Given the description of an element on the screen output the (x, y) to click on. 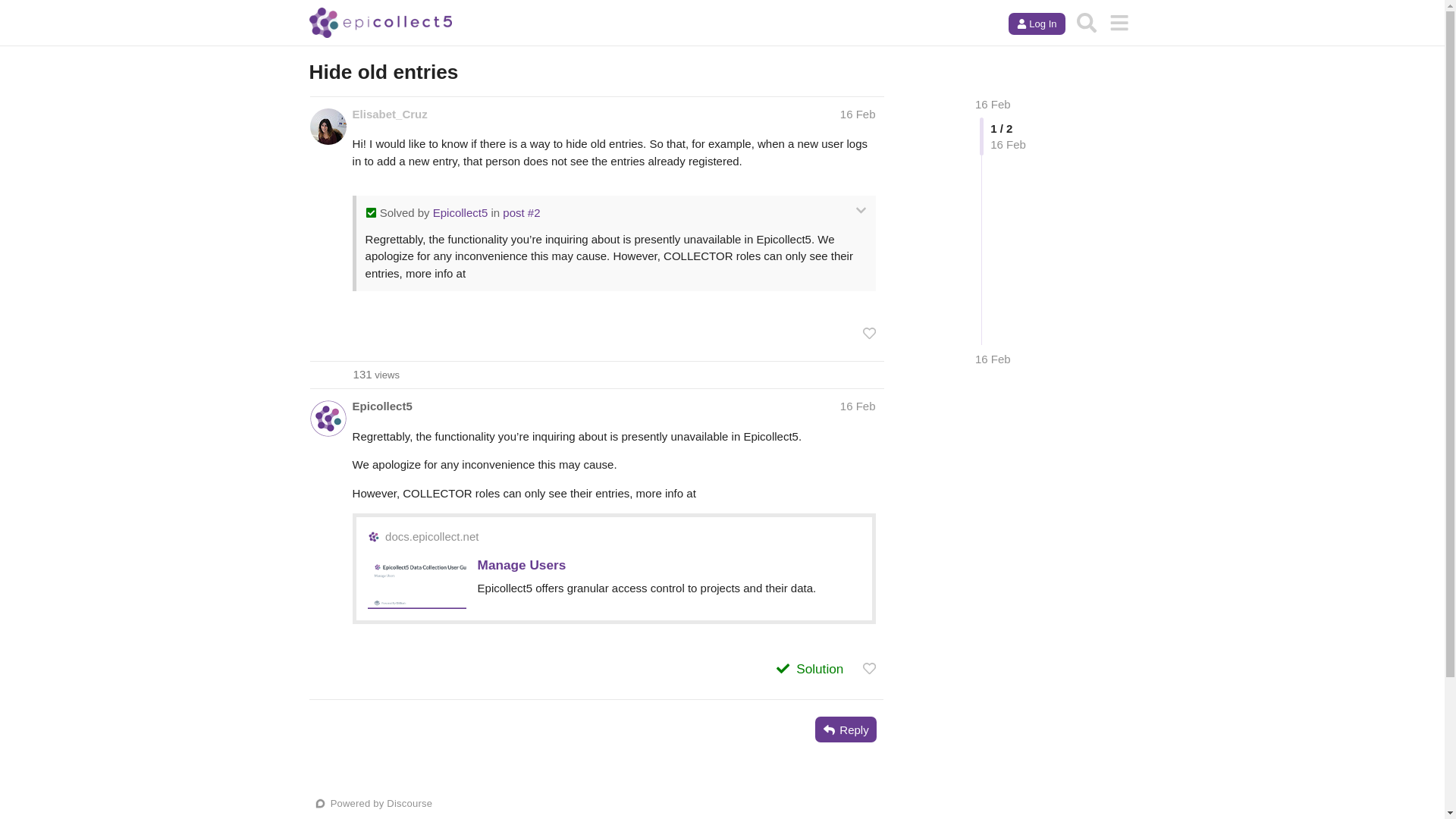
Jump to the first post (992, 103)
Log In (1036, 24)
like this post (869, 333)
docs.epicollect.net (432, 537)
like this post (869, 668)
16 Feb (858, 405)
Post date (858, 113)
Manage Users (521, 564)
Hide old entries (376, 374)
